Given the description of an element on the screen output the (x, y) to click on. 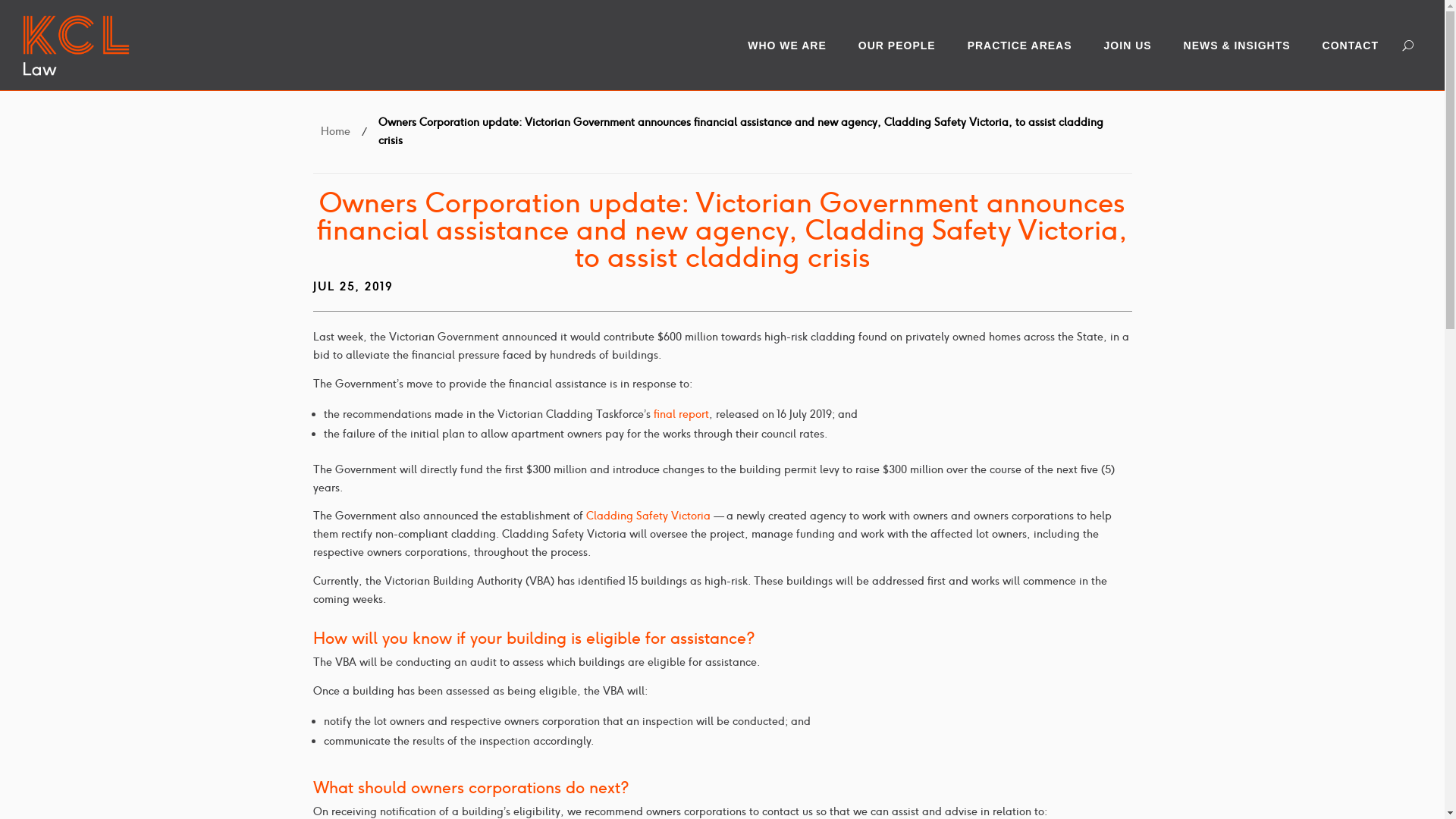
PRACTICE AREAS Element type: text (1027, 45)
WHO WE ARE Element type: text (794, 45)
Home Element type: text (334, 131)
NEWS & INSIGHTS Element type: text (1244, 45)
CONTACT Element type: text (1357, 45)
OUR PEOPLE Element type: text (904, 45)
JOIN US Element type: text (1135, 45)
Cladding Safety Victoria Element type: text (647, 515)
final report Element type: text (681, 413)
